Given the description of an element on the screen output the (x, y) to click on. 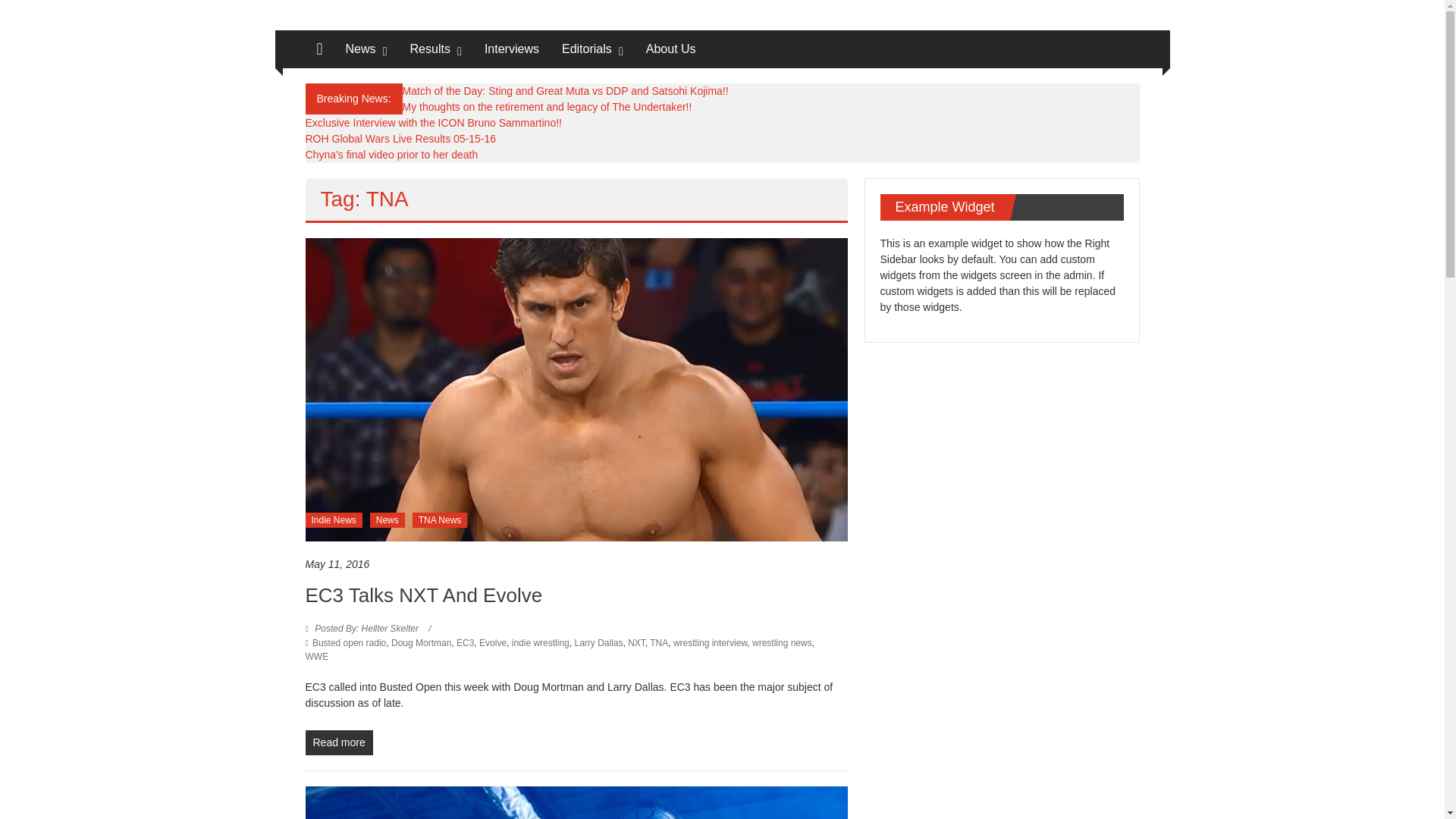
EC3 talks NXT and Evolve (422, 594)
NXT (636, 643)
EC3 talks NXT and Evolve (575, 388)
ROH Global Wars Live Results 05-15-16 (400, 138)
Indie News (332, 519)
indie wrestling (540, 643)
Exclusive Interview with the ICON Bruno Sammartino!! (432, 122)
EC3 talks NXT and Evolve (338, 742)
About Us (670, 48)
